Given the description of an element on the screen output the (x, y) to click on. 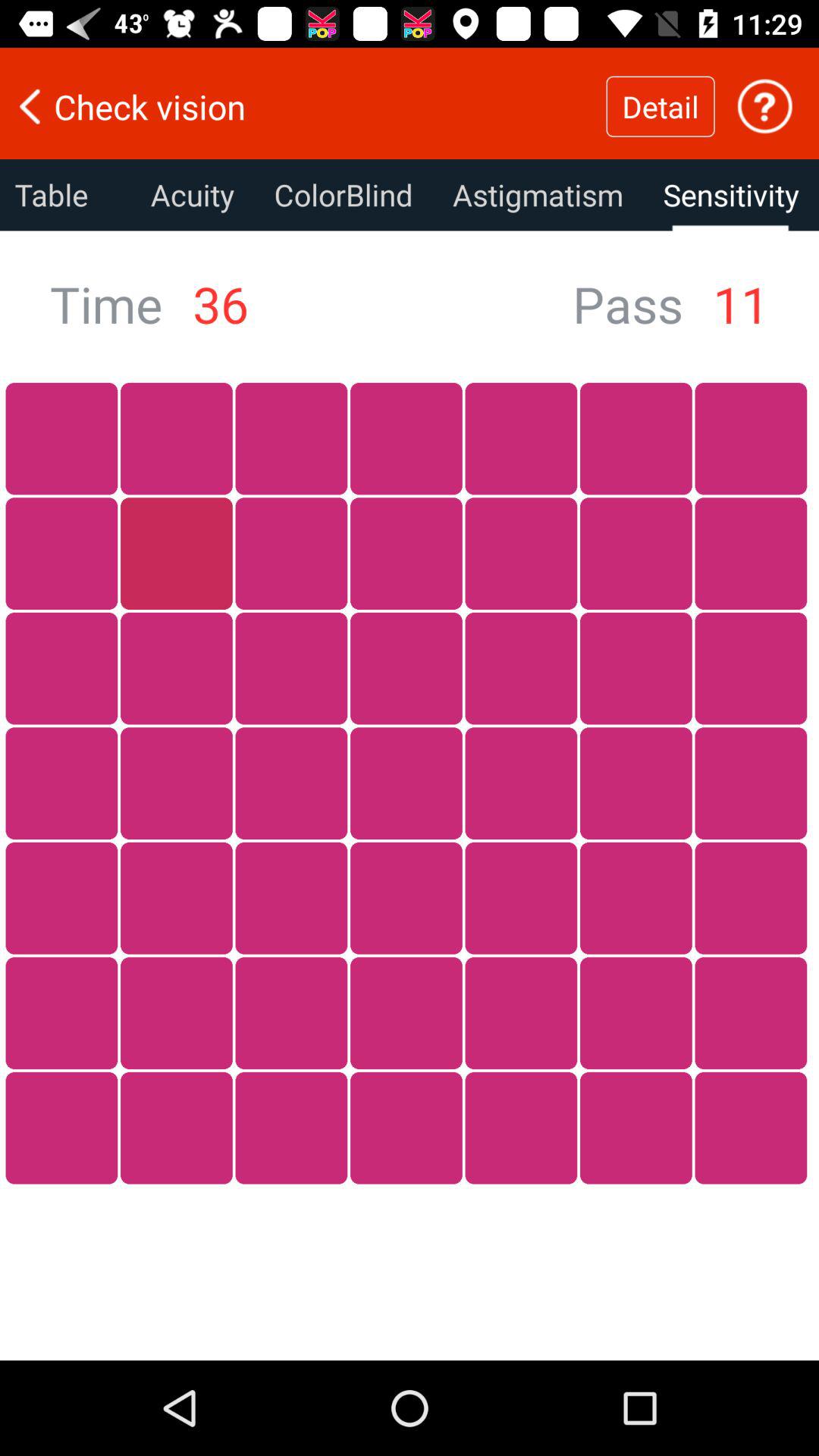
launch the item to the left of the sensitivity (537, 194)
